Given the description of an element on the screen output the (x, y) to click on. 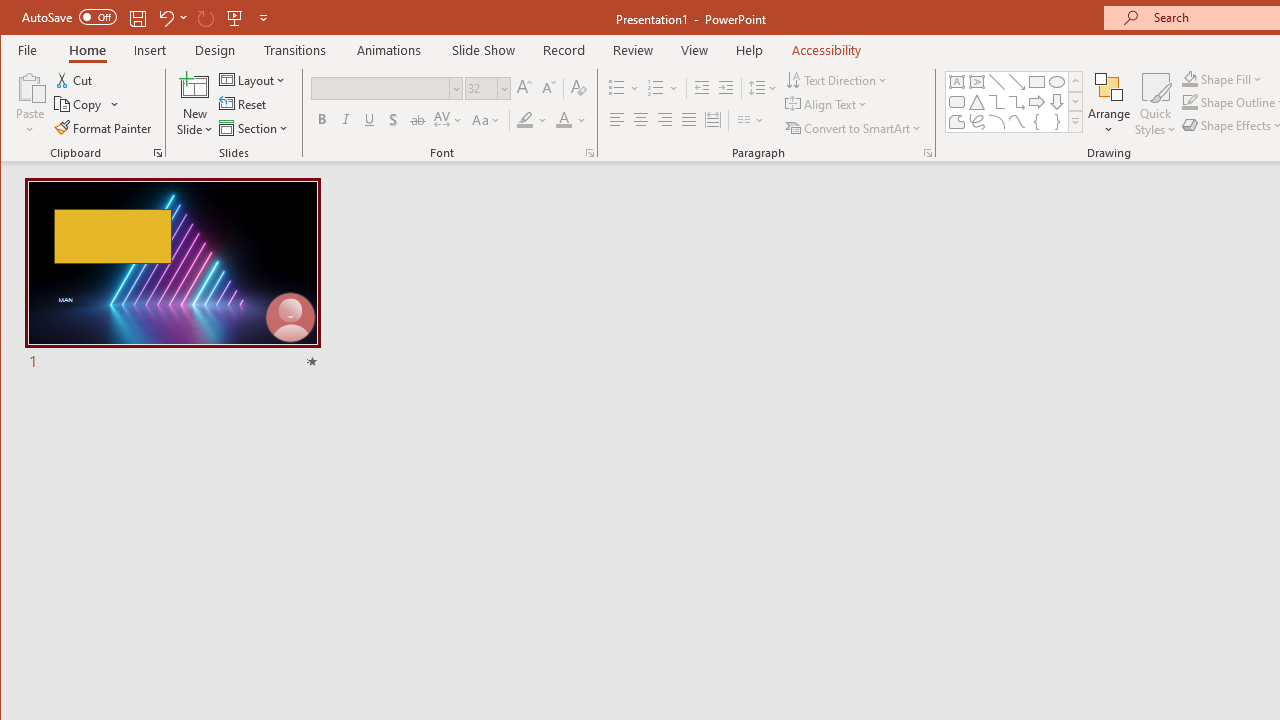
Font Color Red (563, 119)
Rectangle: Rounded Corners (956, 102)
Distributed (712, 119)
Decrease Font Size (548, 88)
Text Direction (837, 80)
